Given the description of an element on the screen output the (x, y) to click on. 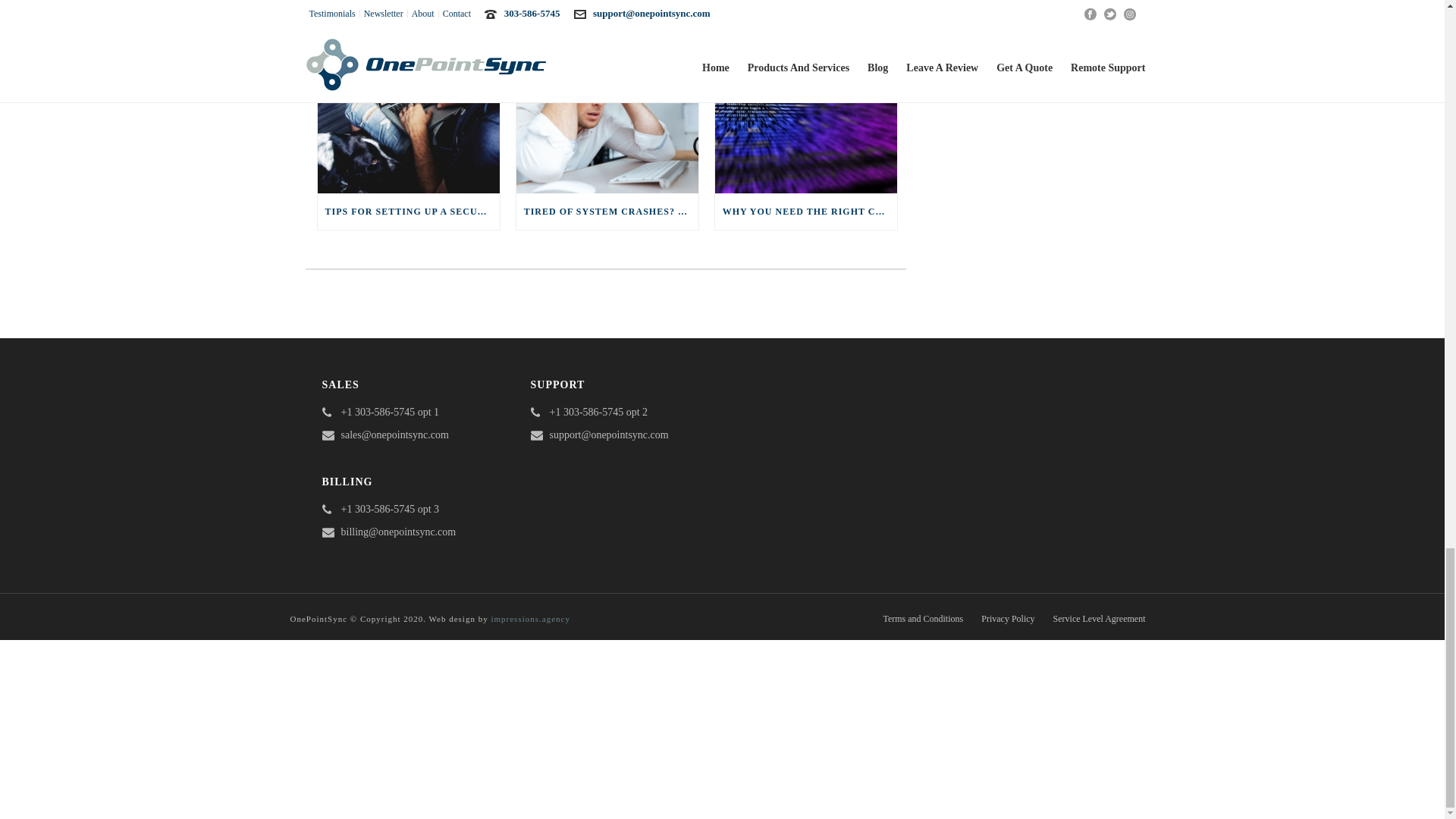
Why You Need The Right Cloud Services (805, 114)
Tips for Setting Up a Secure VPN for Your Remote Business (408, 114)
